Given the description of an element on the screen output the (x, y) to click on. 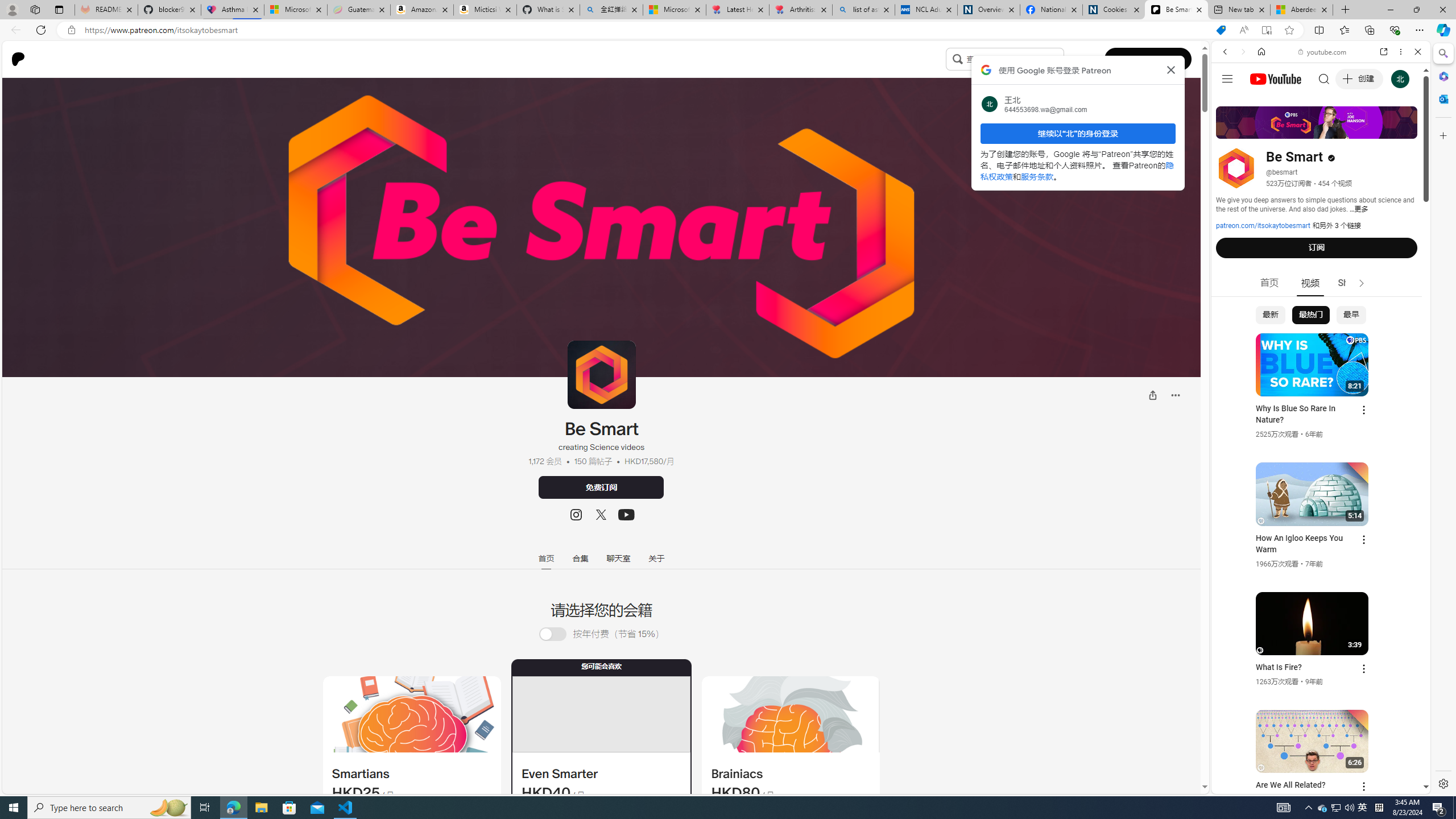
Forward (1242, 51)
AutomationID: right (1361, 283)
Class: sc-jrQzAO HeRcC sc-1b5vbhn-1 hqVCmM (625, 514)
#you (1320, 253)
youtube.com (1322, 51)
Search Filter, Search Tools (1350, 129)
Global web icon (1232, 655)
Music (1320, 309)
